Given the description of an element on the screen output the (x, y) to click on. 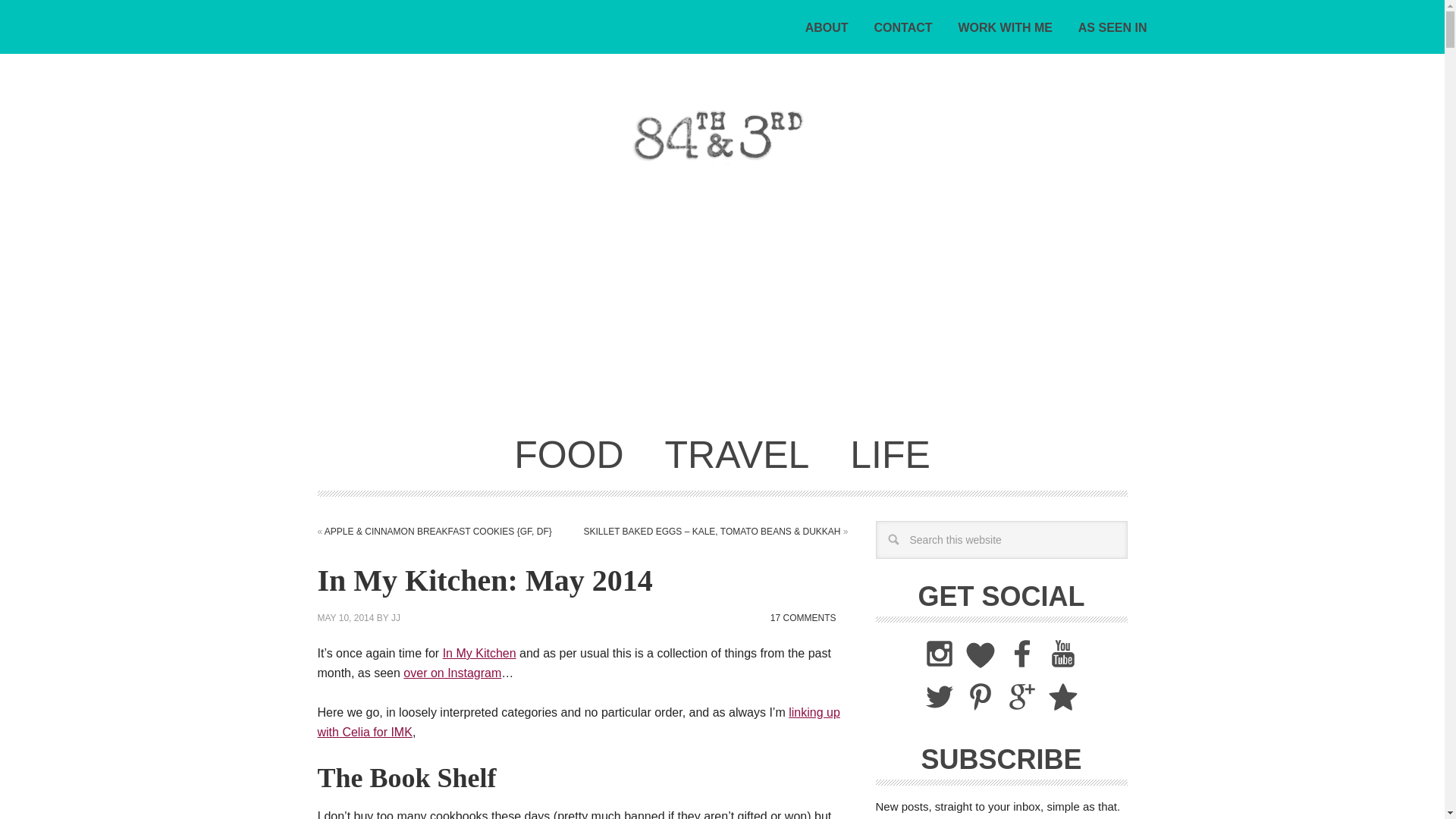
linking up with Celia for IMK (578, 721)
CONTACT (903, 27)
In My Kitchen (479, 653)
84th Instagram (451, 672)
WORK WITH ME (1004, 27)
FOOD (569, 454)
over on Instagram (451, 672)
Fig Jam and Lime Cordial - In My Kitchen May (578, 721)
